Given the description of an element on the screen output the (x, y) to click on. 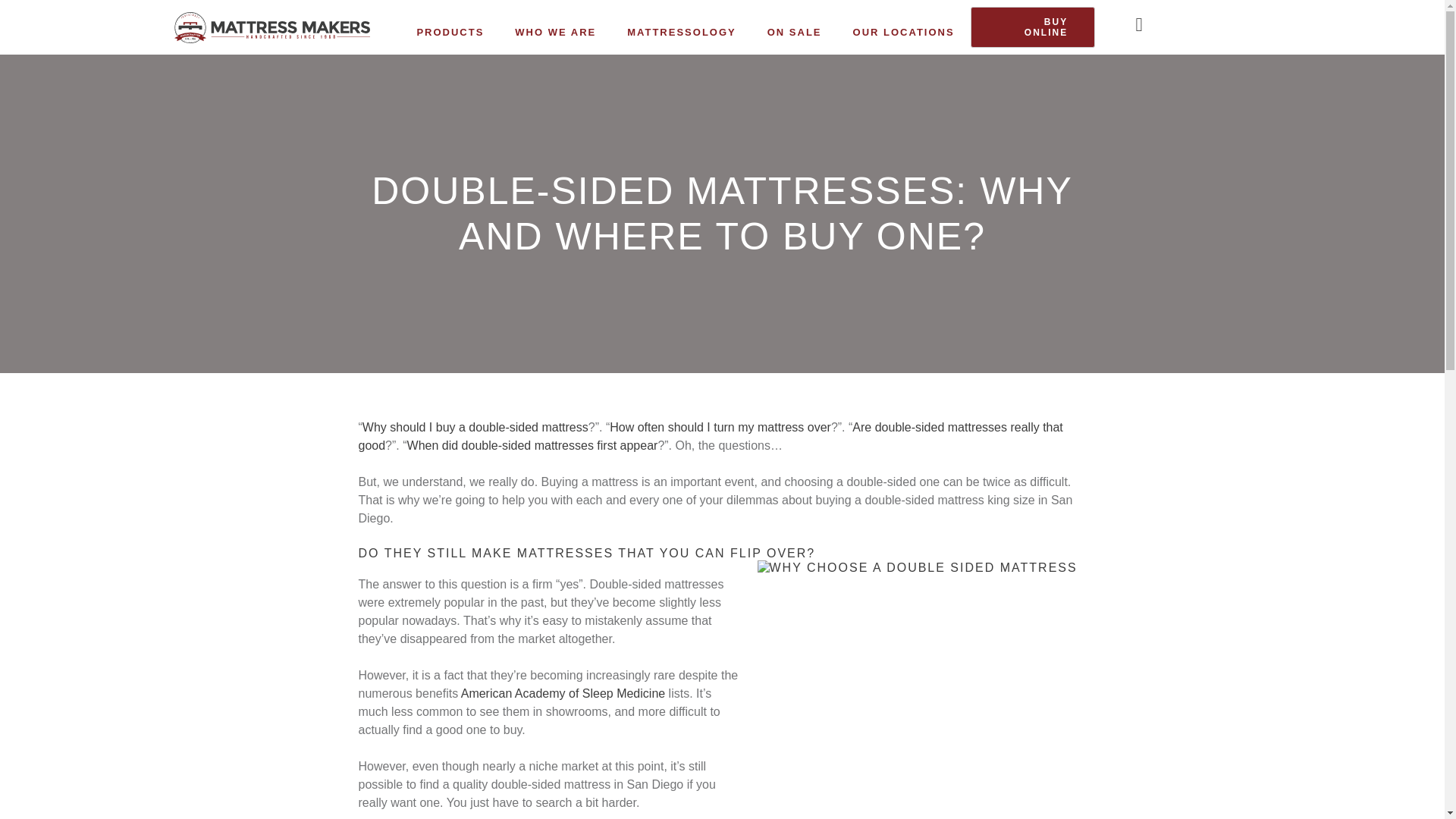
PRODUCTS (450, 31)
How often should I turn my mattress over (720, 427)
When did double-sided mattresses first appear (532, 445)
OUR LOCATIONS (903, 31)
Are double-sided mattresses really that good (710, 436)
ON SALE (794, 31)
BUY ONLINE (1032, 26)
Why should I buy a double-sided mattress (475, 427)
MATTRESSOLOGY (681, 31)
American Academy of Sleep Medicine (563, 693)
WHO WE ARE (555, 31)
